Given the description of an element on the screen output the (x, y) to click on. 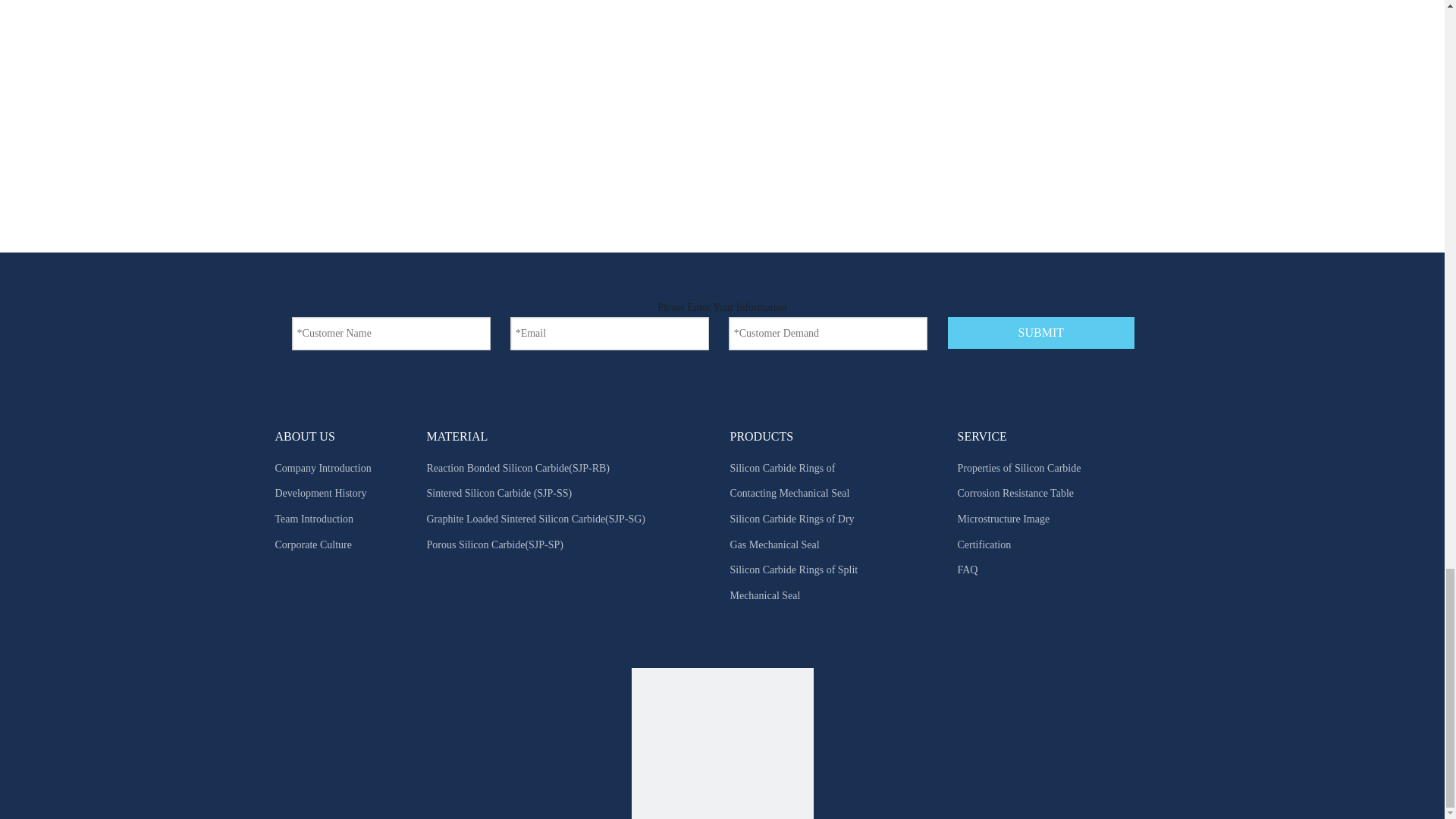
Company Introduction (323, 468)
Team Introduction (314, 518)
Development History (320, 492)
Corporate Culture (312, 544)
